Given the description of an element on the screen output the (x, y) to click on. 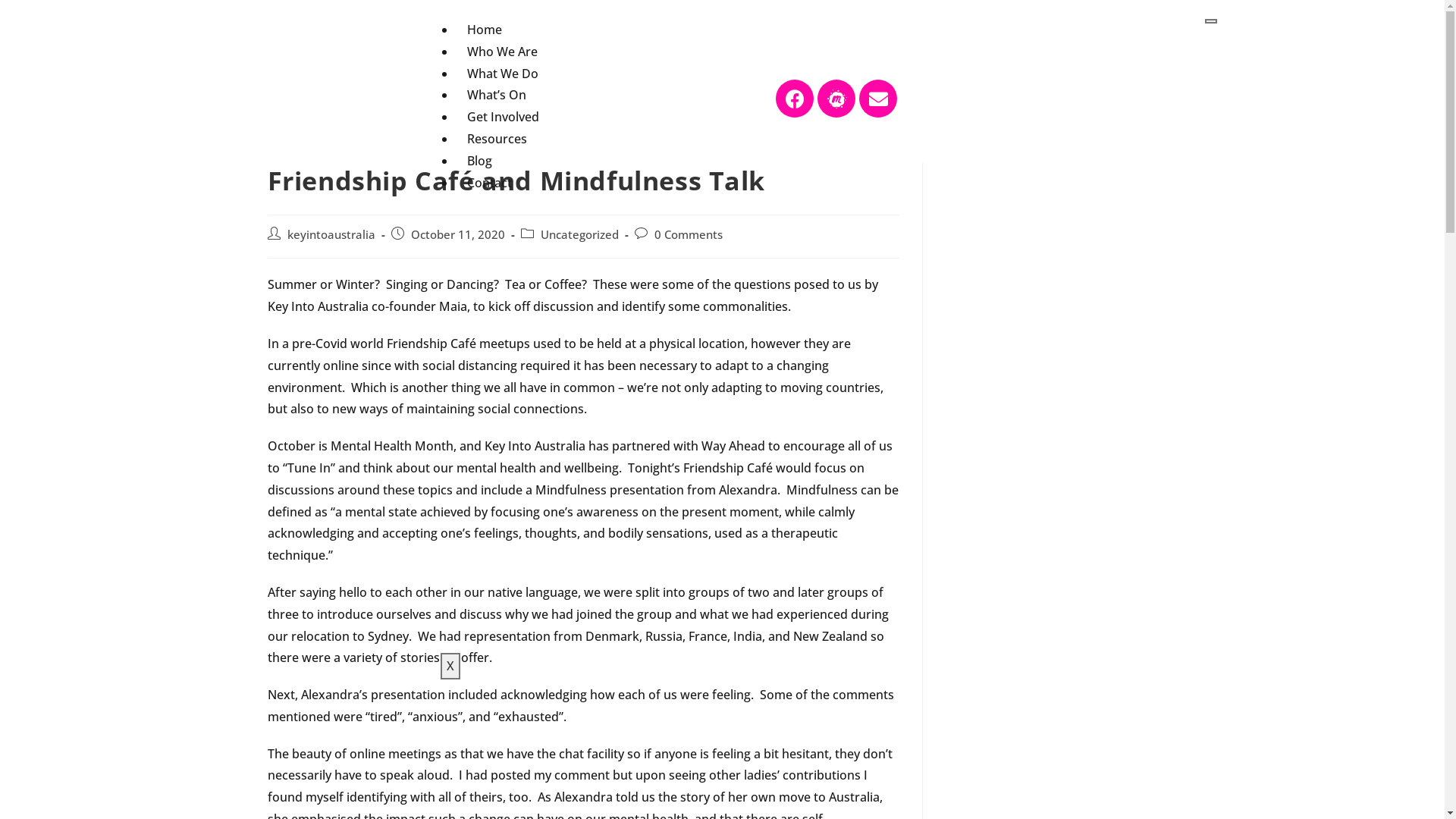
Uncategorized Element type: text (578, 234)
Home Element type: text (484, 29)
Who We Are Element type: text (502, 51)
keyintoaustralia Element type: text (330, 234)
X Element type: text (450, 665)
What We Do Element type: text (502, 73)
Blog Element type: text (479, 160)
Get Involved Element type: text (502, 116)
Contact Element type: text (489, 182)
0 Comments Element type: text (687, 234)
Resources Element type: text (496, 138)
